Given the description of an element on the screen output the (x, y) to click on. 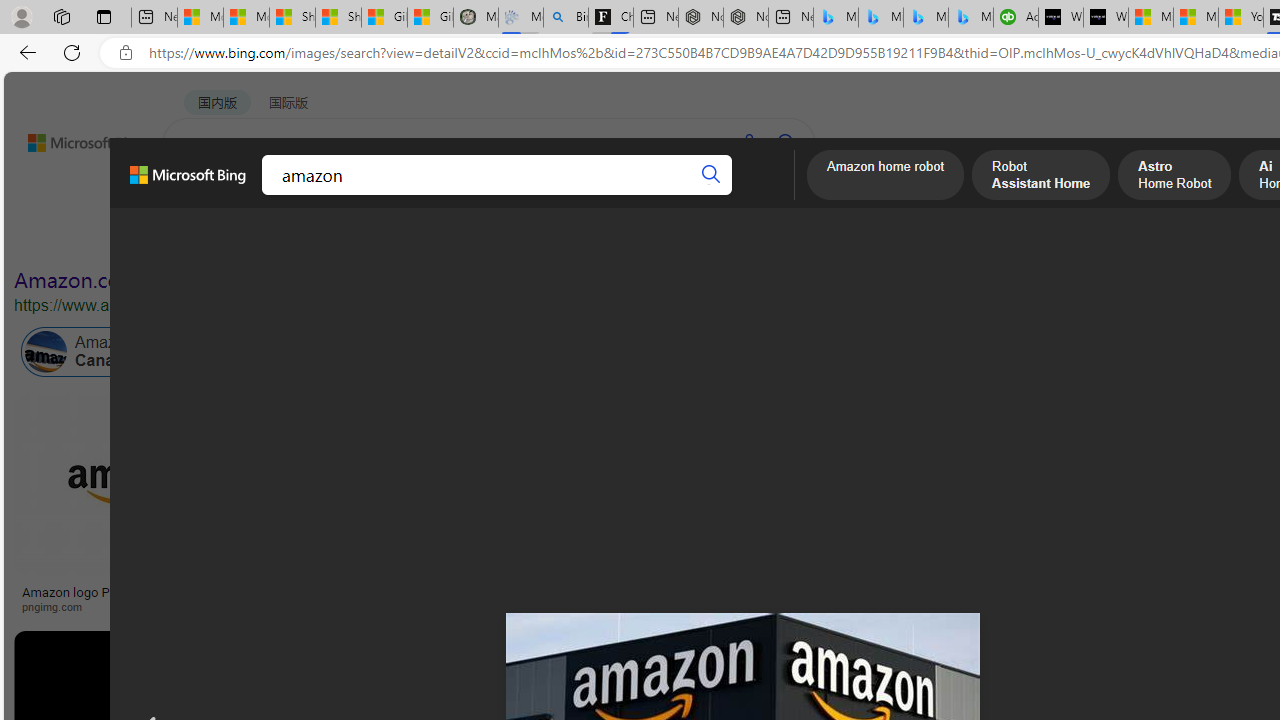
Alexa Smart Home Devices (1183, 584)
Amazon Echo Dot 4th Gen (1183, 465)
New tab (790, 17)
Amazon Canada Online (45, 351)
DICT (630, 195)
Echo Dot 4th Gen (1183, 465)
Search (712, 174)
Microsoft Start (1195, 17)
mytotalretail.com (396, 606)
Layout (443, 237)
Bing Real Estate - Home sales and rental listings (565, 17)
IMAGES (274, 195)
